Given the description of an element on the screen output the (x, y) to click on. 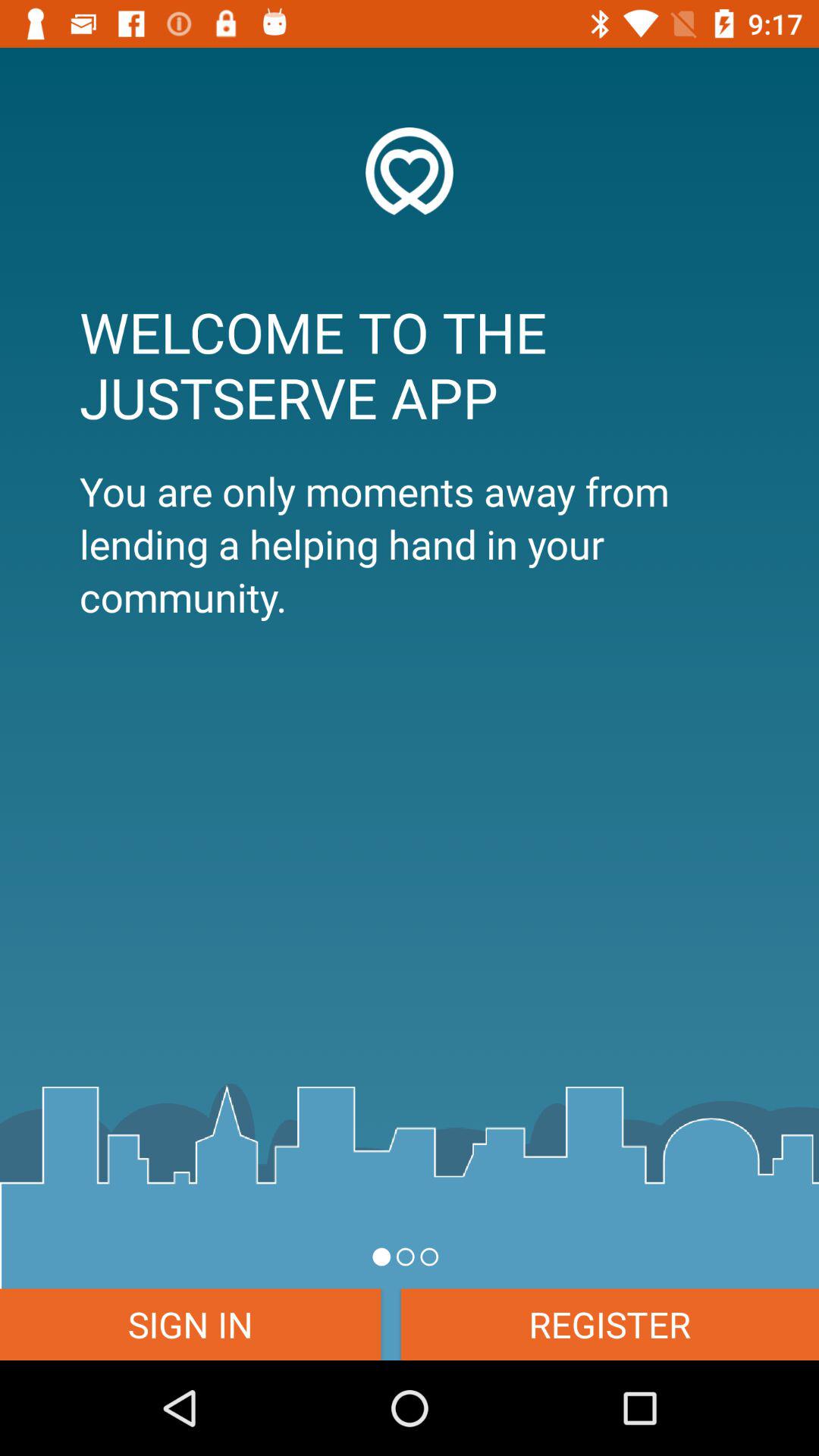
click the item at the bottom right corner (609, 1324)
